Given the description of an element on the screen output the (x, y) to click on. 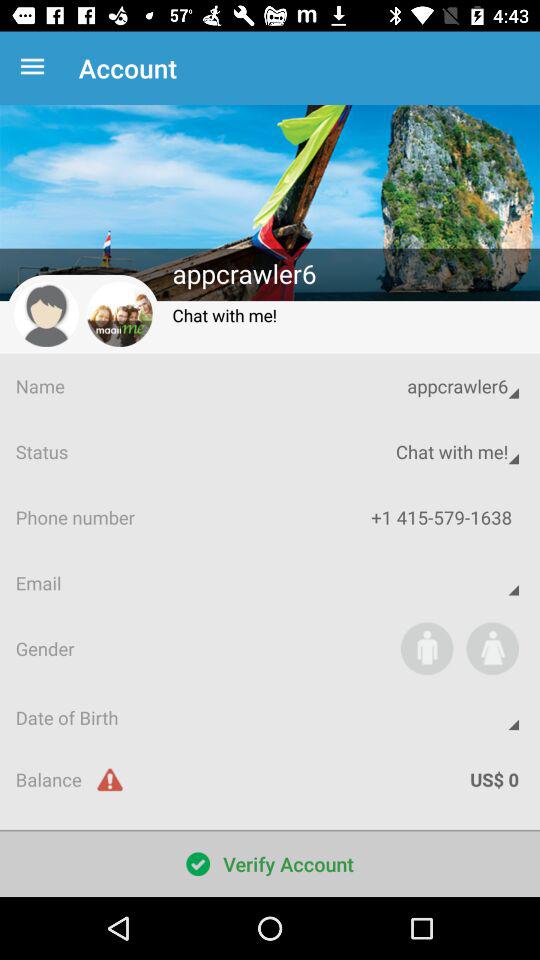
turn on item to the left of account item (36, 68)
